Given the description of an element on the screen output the (x, y) to click on. 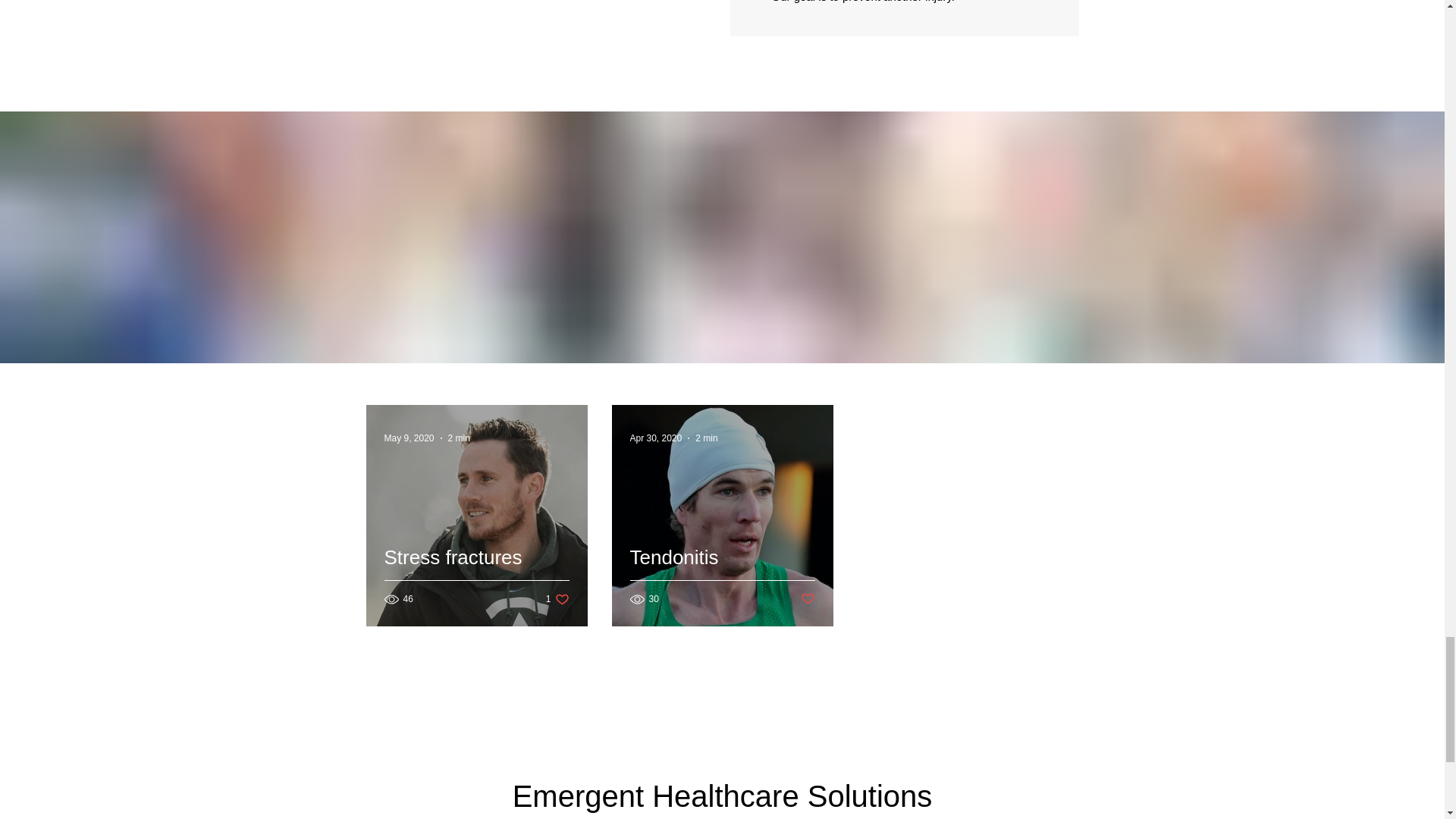
2 min (459, 438)
May 9, 2020 (408, 438)
Tendonitis (720, 575)
Apr 30, 2020 (654, 438)
Post not marked as liked (807, 599)
2 min (557, 599)
Stress fractures (706, 438)
